Given the description of an element on the screen output the (x, y) to click on. 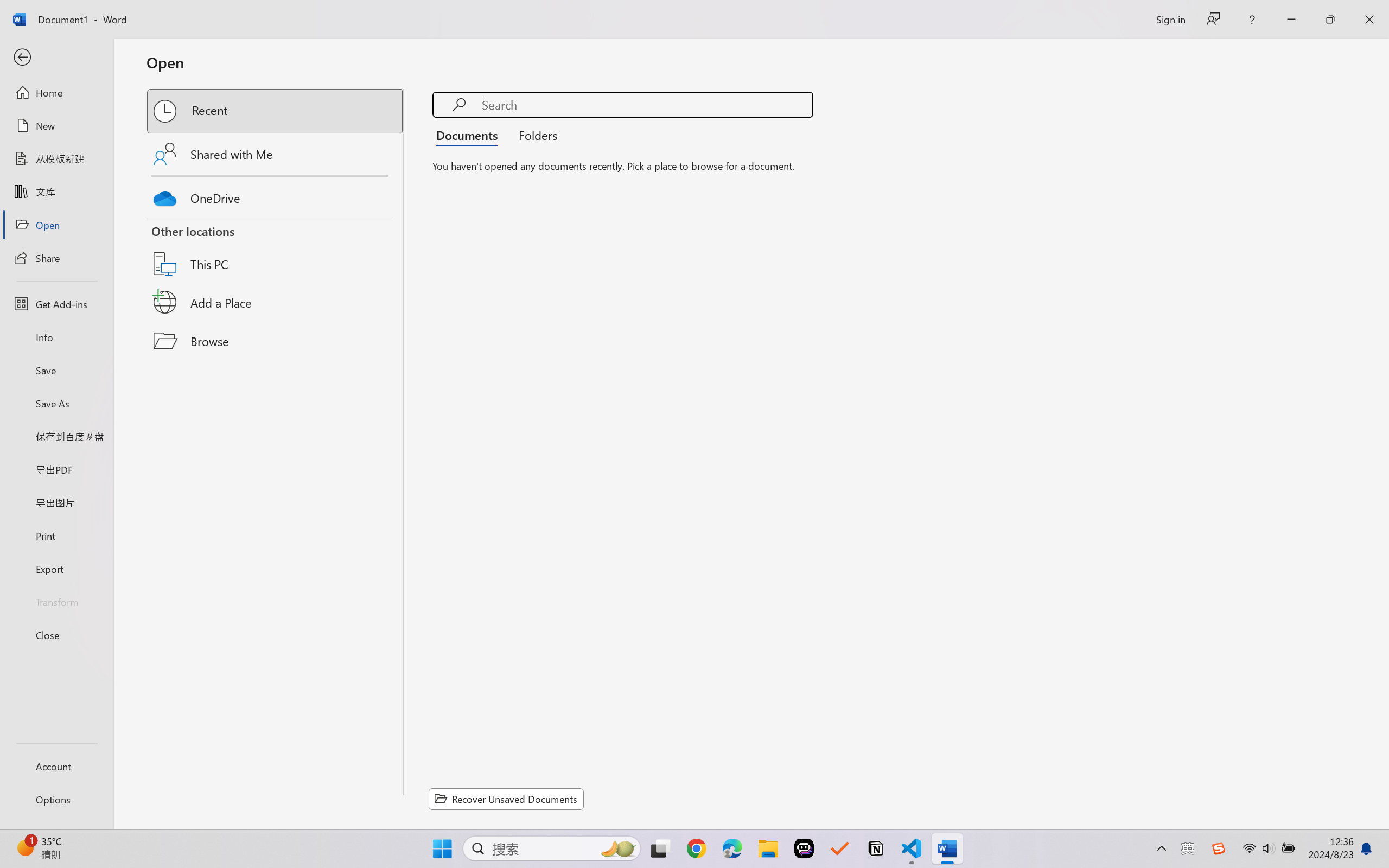
Transform (56, 601)
Documents (469, 134)
Browse (275, 340)
Options (56, 798)
Save As (56, 403)
